Given the description of an element on the screen output the (x, y) to click on. 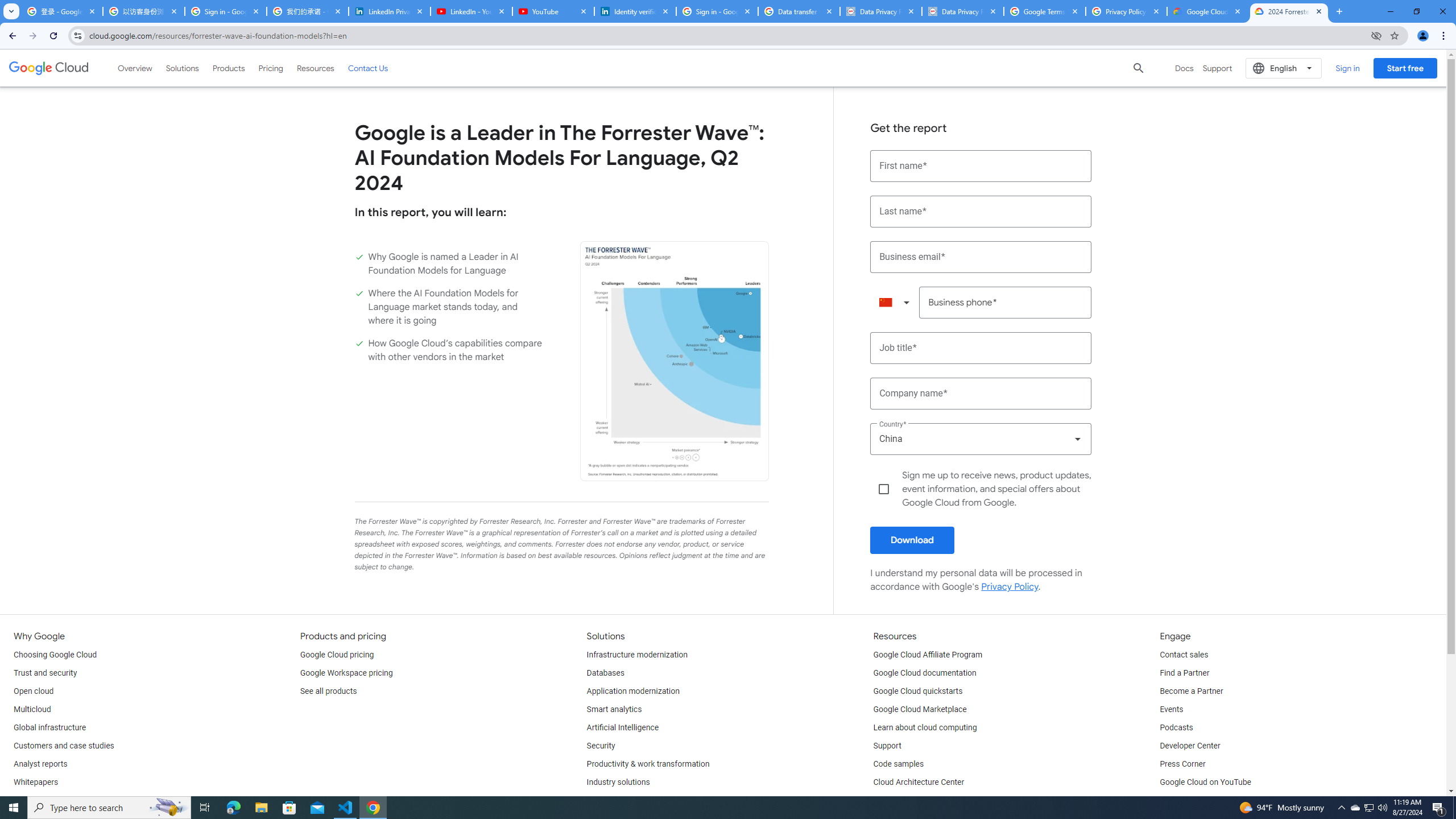
Sign in - Google Accounts (716, 11)
Google Workspace pricing (346, 673)
Whitepapers (35, 782)
Choosing Google Cloud (55, 655)
